Given the description of an element on the screen output the (x, y) to click on. 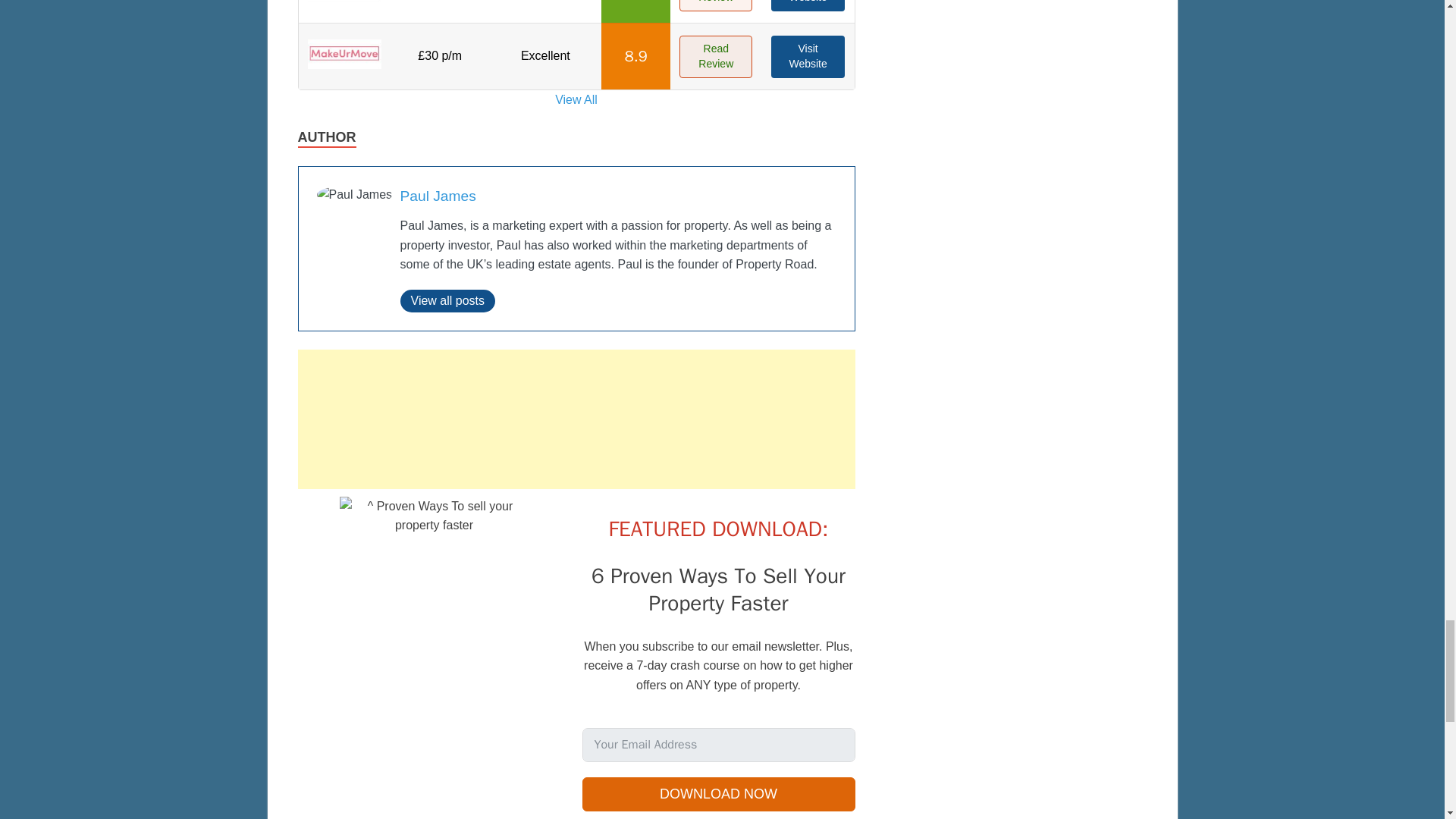
Paul James (438, 195)
View all posts (448, 300)
